Given the description of an element on the screen output the (x, y) to click on. 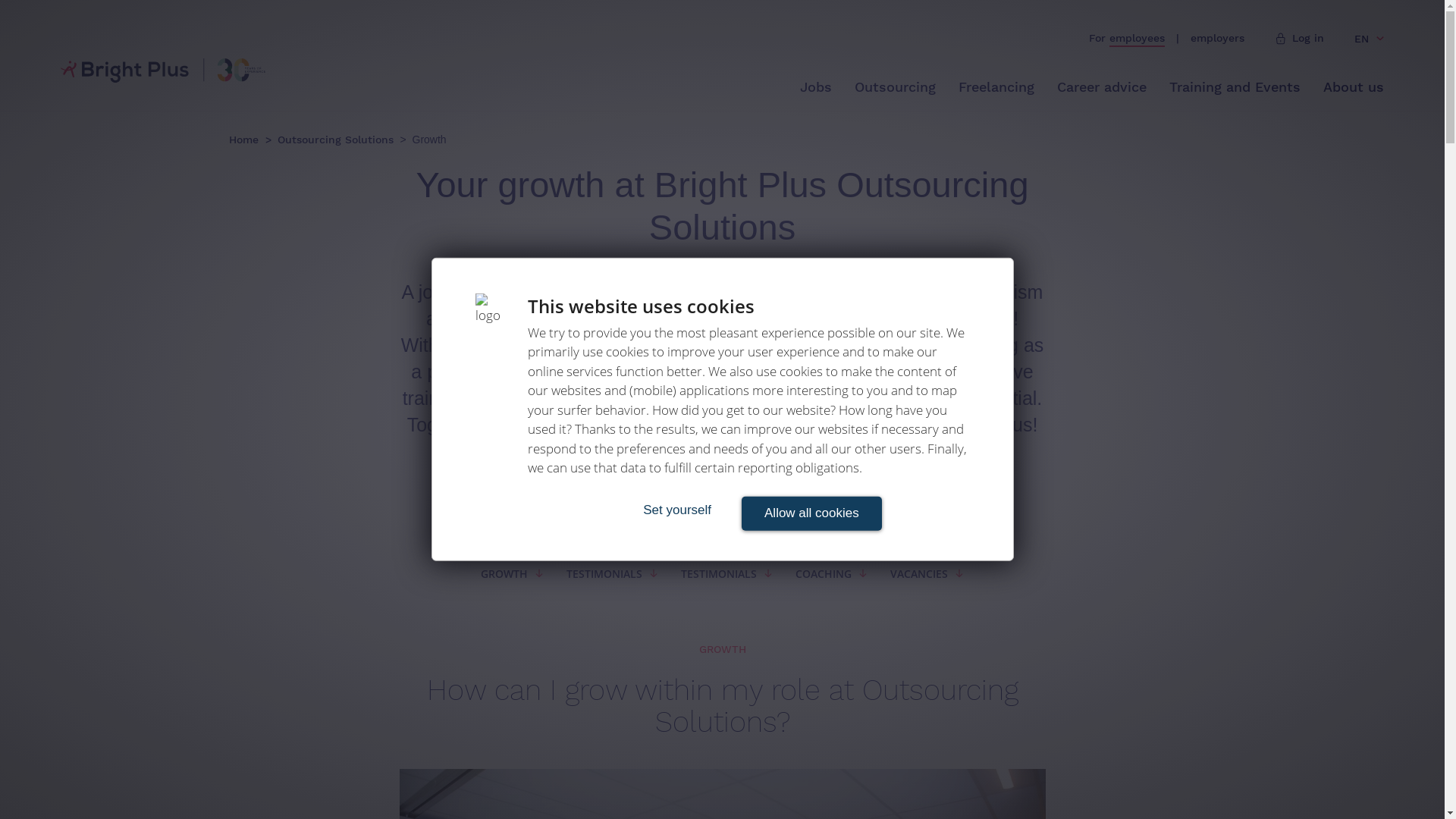
Outsourcing Solutions Element type: text (337, 139)
Freelancing Element type: text (996, 87)
Career advice Element type: text (1101, 87)
Set yourself Element type: text (677, 509)
TESTIMONIALS Element type: text (612, 573)
employers Element type: text (1217, 38)
COACHING Element type: text (831, 573)
About us Element type: text (1353, 87)
GROWTH Element type: text (511, 573)
TESTIMONIALS Element type: text (726, 573)
Apply now Element type: text (722, 483)
Log in Element type: text (1299, 38)
Outsourcing Element type: text (894, 87)
Allow all cookies Element type: text (811, 513)
employees Element type: text (1136, 38)
Home Element type: text (245, 139)
VACANCIES Element type: text (926, 573)
Training and Events Element type: text (1234, 87)
Jobs Element type: text (815, 87)
